Given the description of an element on the screen output the (x, y) to click on. 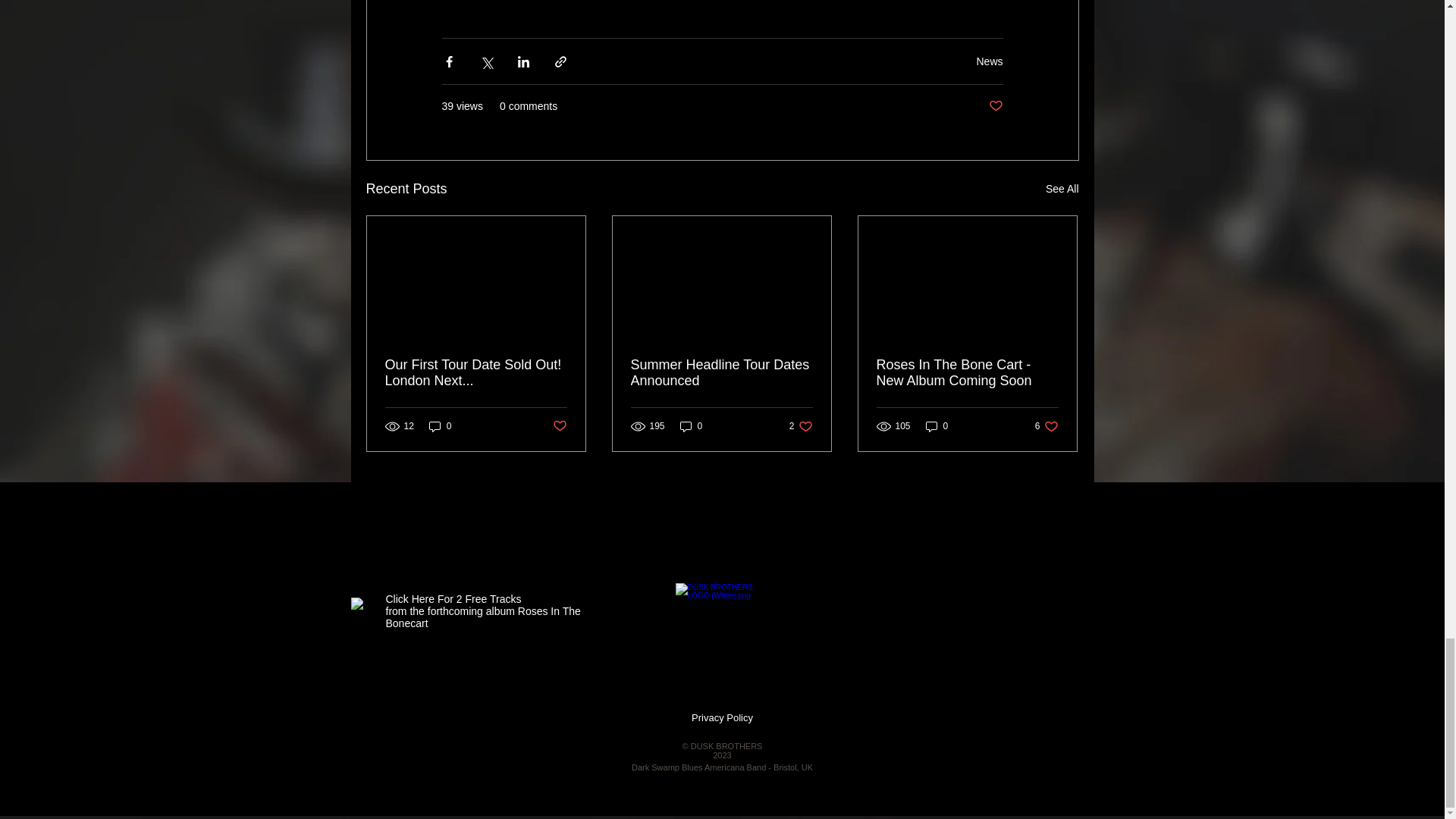
0 (691, 426)
See All (1061, 188)
0 (440, 426)
Our First Tour Date Sold Out! London Next... (476, 373)
News (989, 61)
Summer Headline Tour Dates Announced (721, 373)
Post not marked as liked (558, 426)
Post not marked as liked (995, 106)
